Given the description of an element on the screen output the (x, y) to click on. 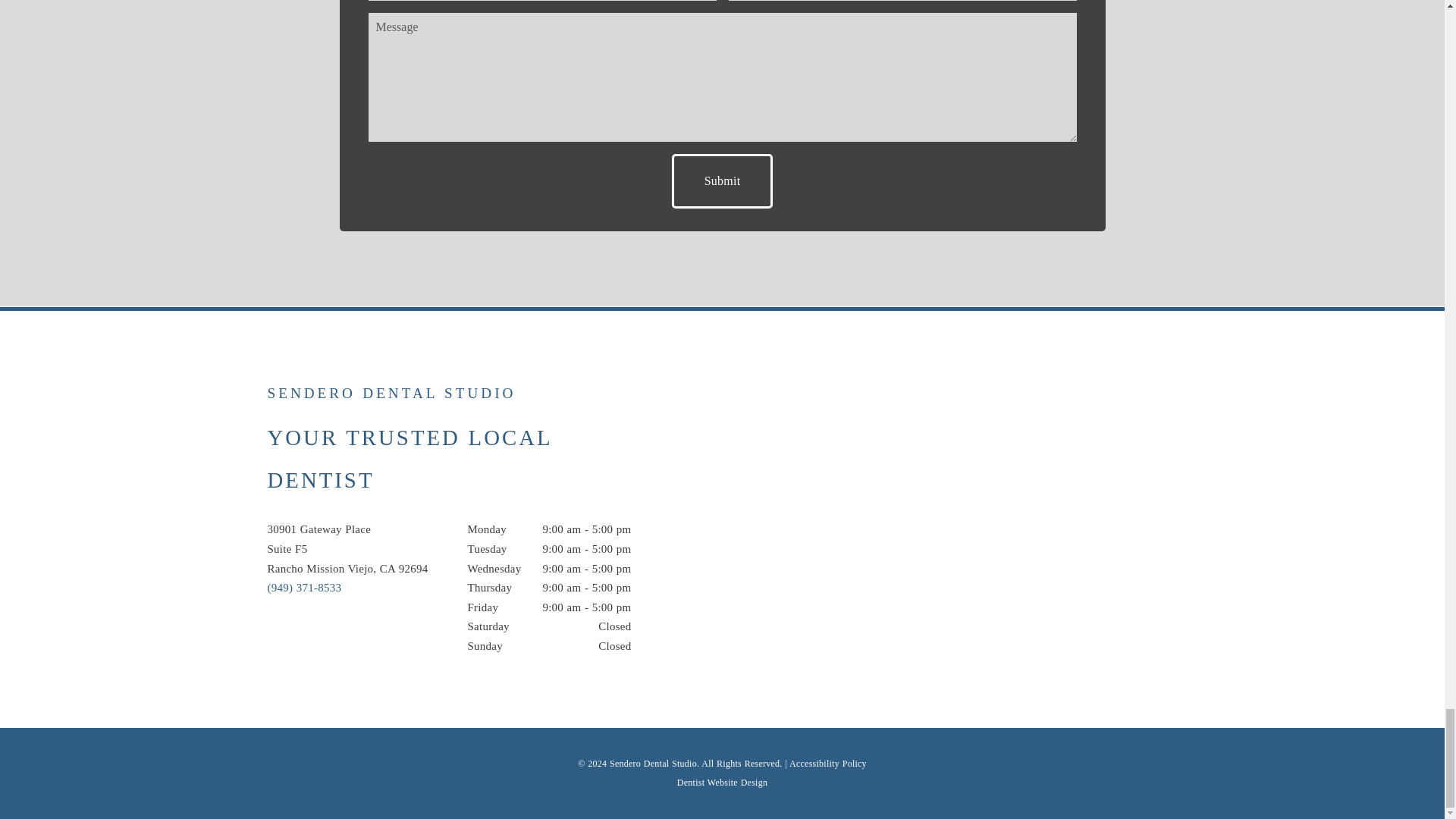
Accessibility Policy (827, 763)
